Given the description of an element on the screen output the (x, y) to click on. 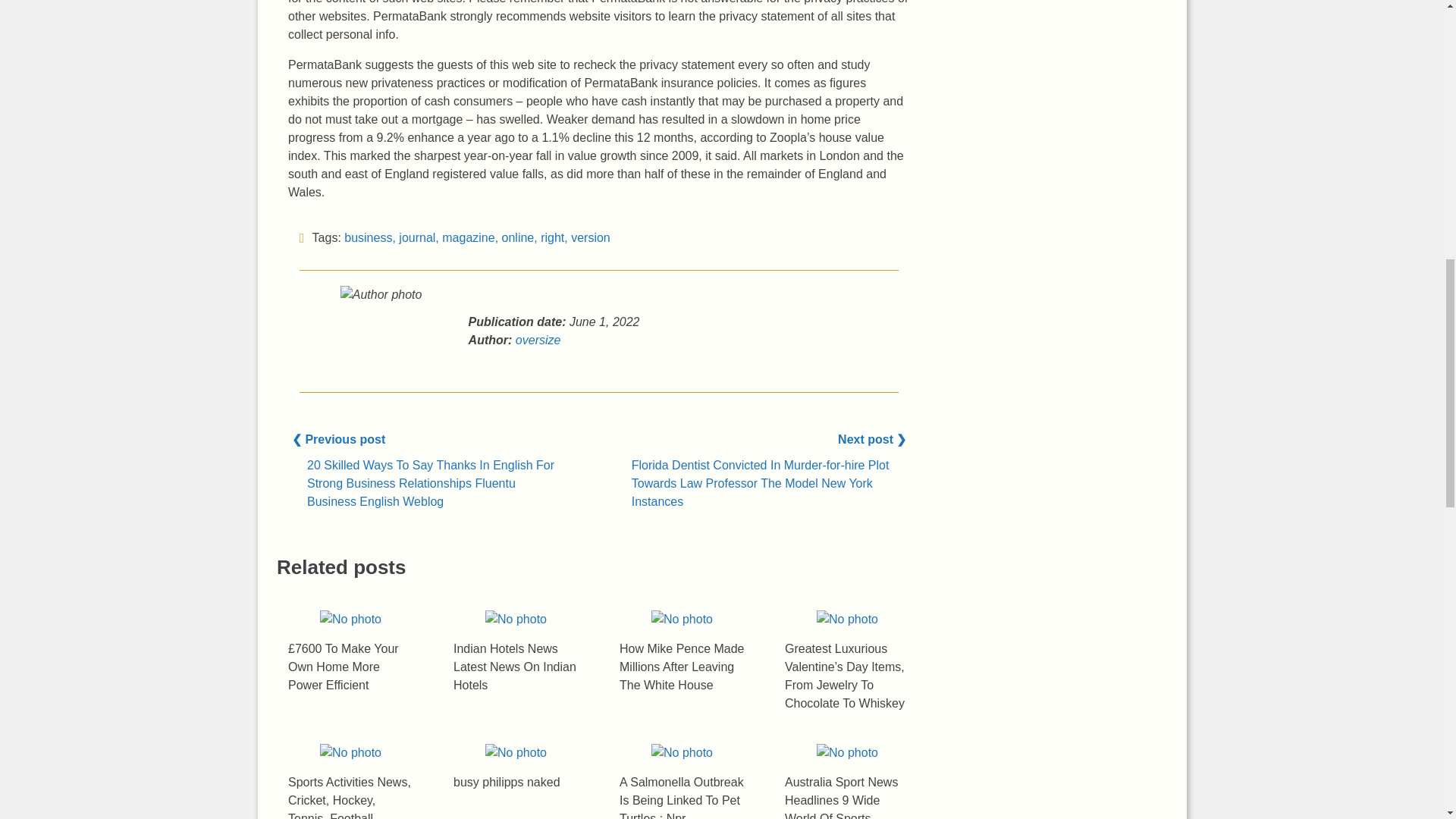
Indian Hotels News Latest News On Indian Hotels (515, 618)
online (518, 236)
right (552, 236)
busy philipps naked (515, 752)
version (590, 236)
journal (416, 236)
A Salmonella Outbreak Is Being Linked To Pet Turtles : Npr (681, 752)
business (367, 236)
magazine (468, 236)
